Given the description of an element on the screen output the (x, y) to click on. 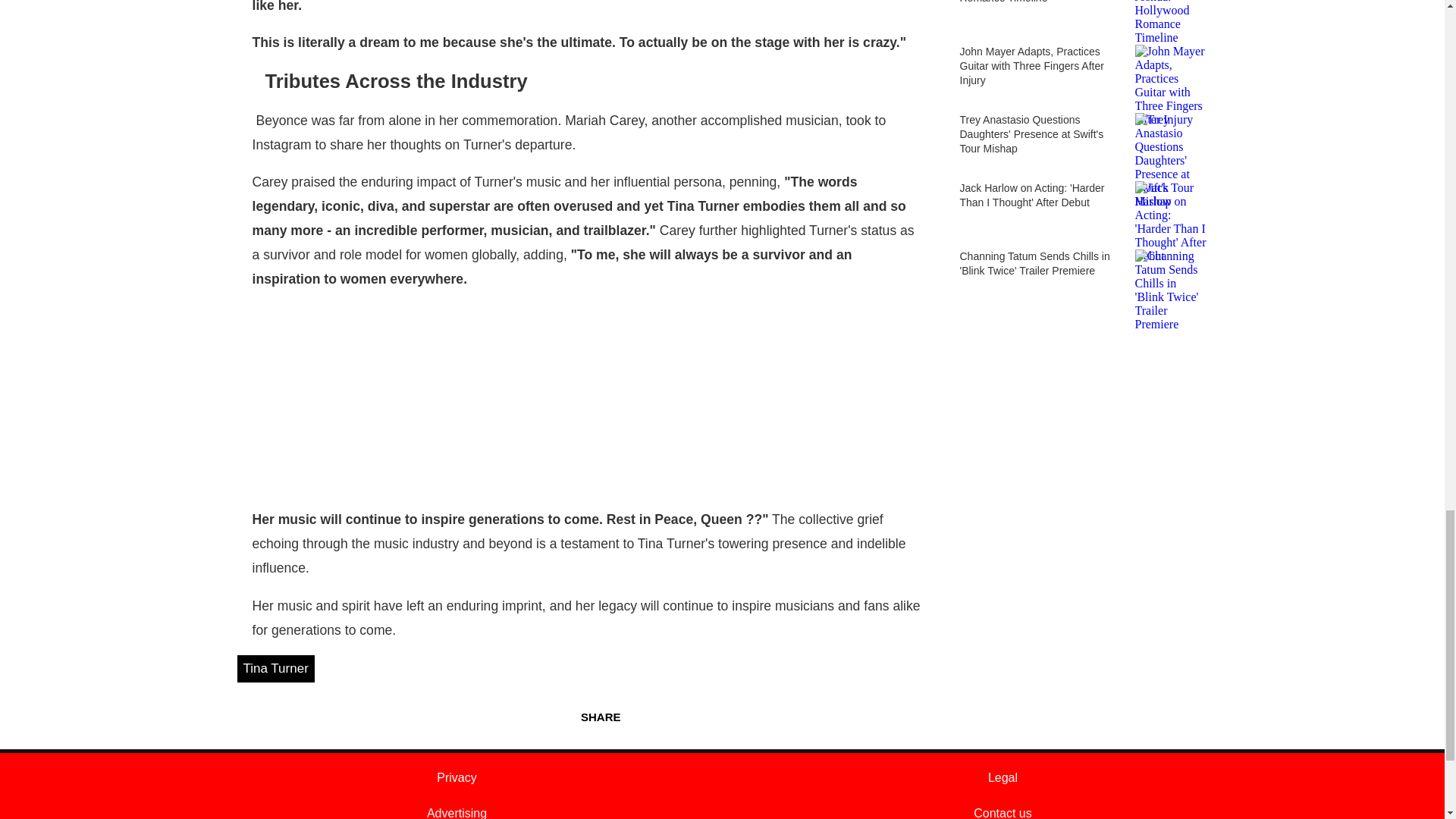
Tina Turner (274, 668)
